Given the description of an element on the screen output the (x, y) to click on. 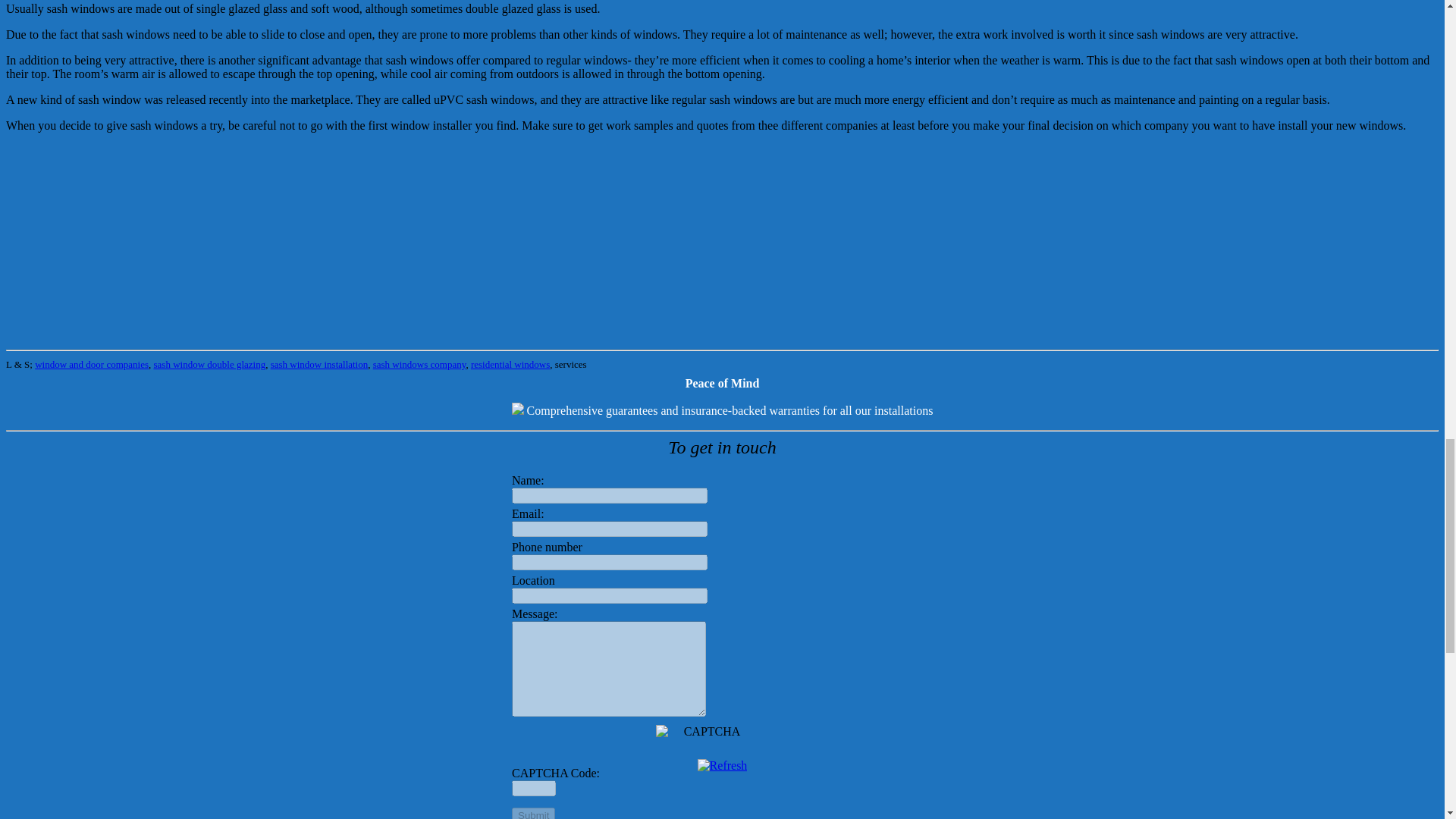
upvc windows suppliers (319, 364)
residential windows (510, 364)
door and window company (510, 364)
sash windows company (418, 364)
Submit (533, 813)
window and door companies (91, 364)
sash window double glazing (210, 364)
cheapest place to buy replacement windows (210, 364)
sash window installation (319, 364)
double glazing reviews (91, 364)
